Given the description of an element on the screen output the (x, y) to click on. 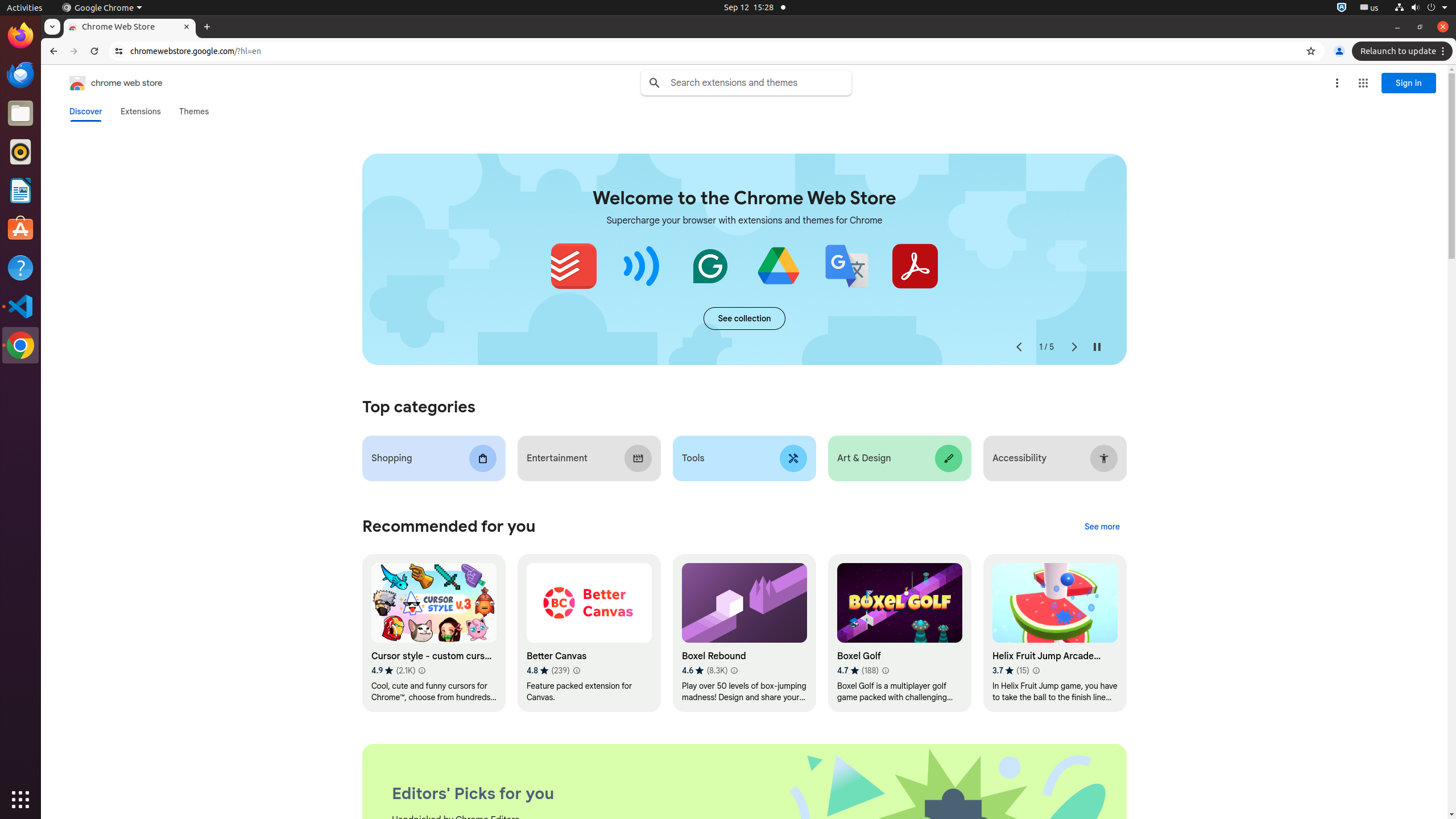
Search input Element type: combo-box (760, 82)
Files Element type: push-button (20, 113)
Previous slide Element type: push-button (1018, 346)
Show Applications Element type: toggle-button (20, 799)
Rhythmbox Element type: push-button (20, 151)
